Given the description of an element on the screen output the (x, y) to click on. 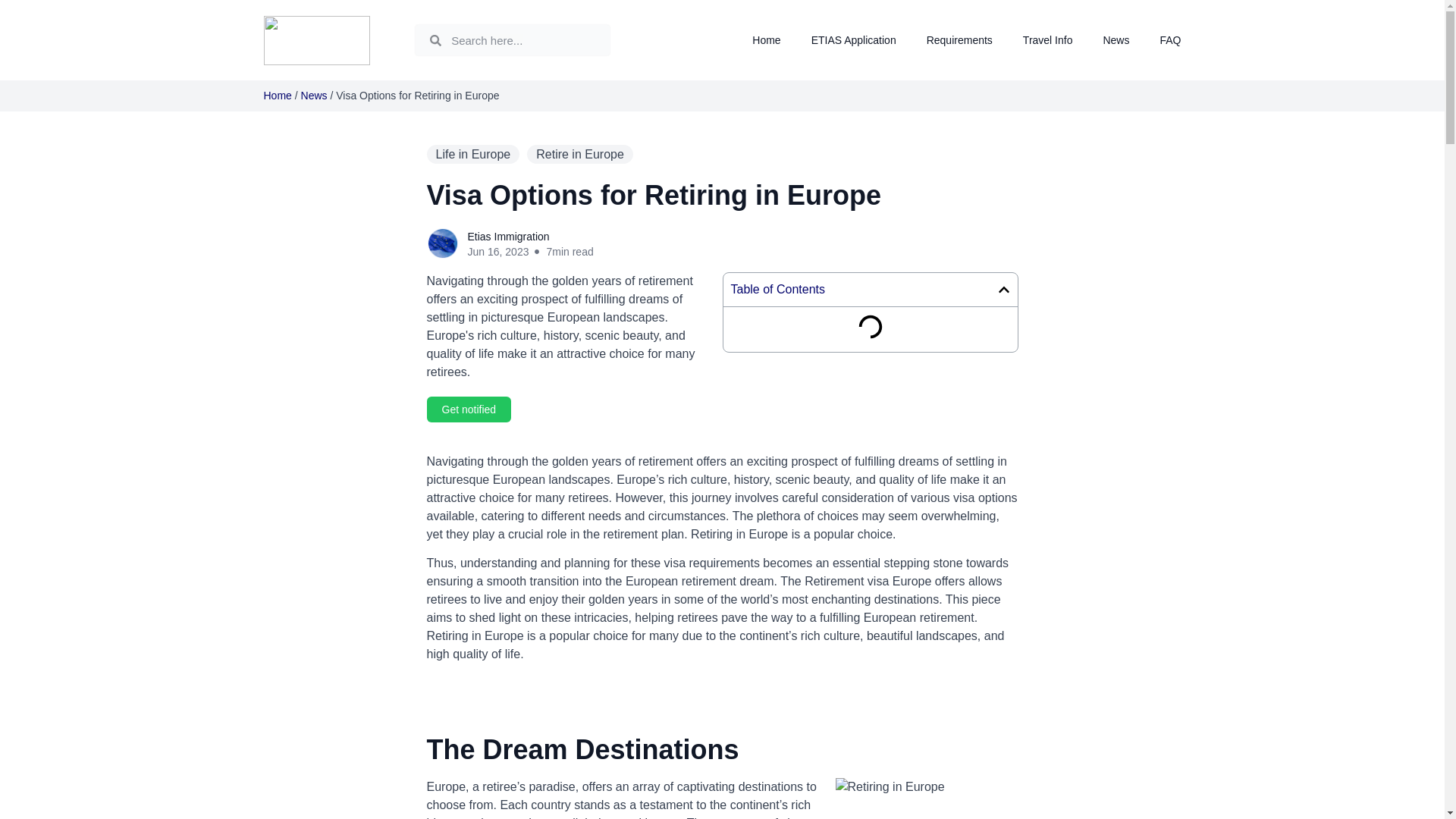
Get notified (468, 409)
Life in Europe (472, 153)
Home (277, 95)
Travel Info (1048, 39)
FAQ (1169, 39)
Requirements (959, 39)
Home (766, 39)
ETIAS Application (853, 39)
Retire in Europe (580, 153)
News (1115, 39)
